Given the description of an element on the screen output the (x, y) to click on. 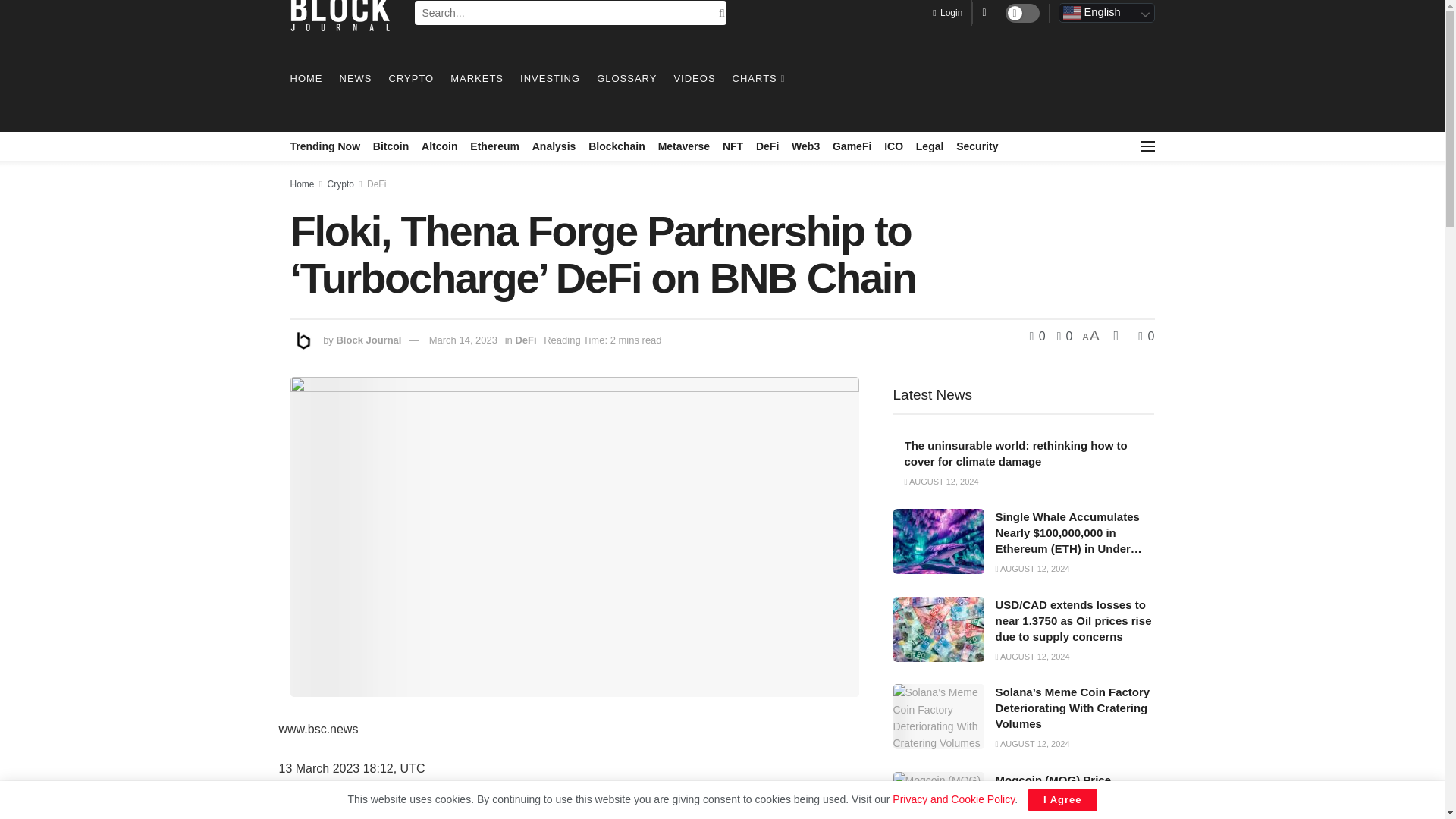
MARKETS (476, 78)
CRYPTO (410, 78)
Trending Now (324, 145)
Ethereum (494, 145)
English (1106, 12)
Analysis (554, 145)
CHARTS (757, 78)
Login (947, 12)
INVESTING (549, 78)
Blockchain (616, 145)
